Given the description of an element on the screen output the (x, y) to click on. 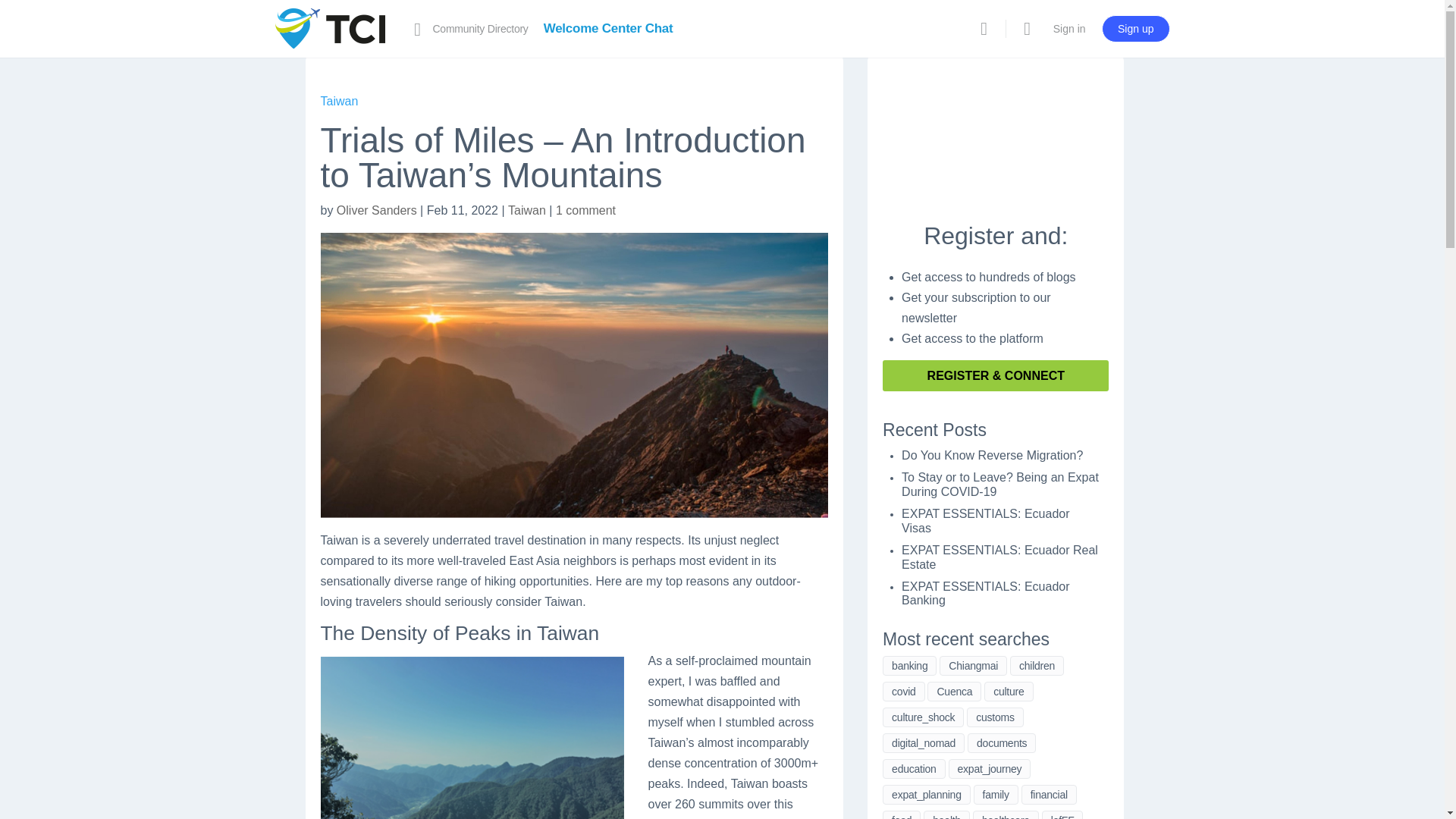
children (1037, 665)
Oliver Sanders (376, 213)
Cuenca (954, 691)
EXPAT ESSENTIALS: Ecuador Visas (984, 524)
Do You Know Reverse Migration? (992, 458)
Chiangmai (973, 665)
covid (903, 691)
education (913, 768)
Sign up (1135, 28)
customs (994, 717)
